Given the description of an element on the screen output the (x, y) to click on. 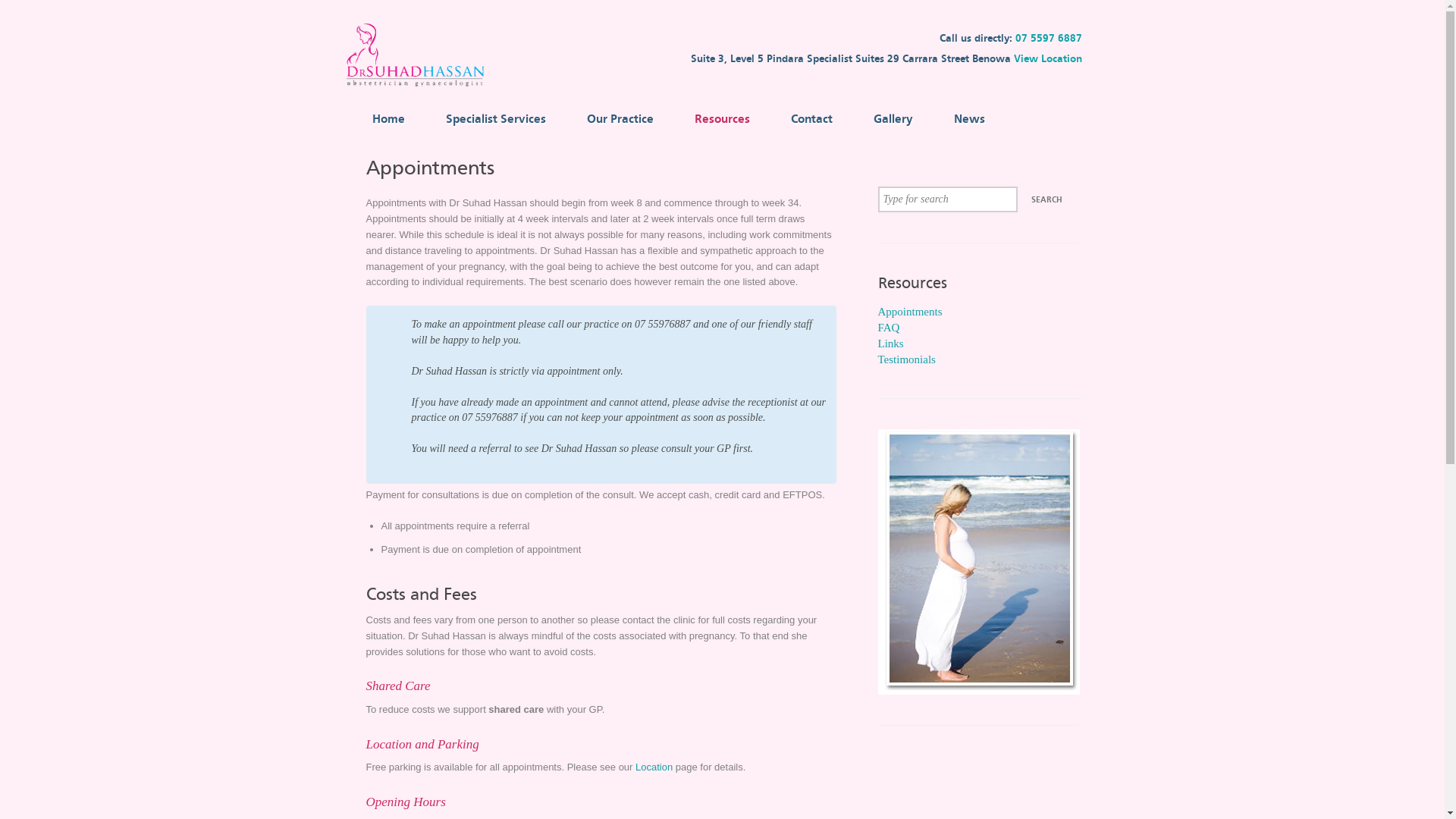
View Location Element type: text (1055, 58)
Appointments Element type: text (910, 311)
Obstetrician | Gynaecologist Element type: hover (418, 87)
Location Element type: text (653, 766)
Gallery Element type: text (886, 117)
News Element type: text (962, 117)
Contact Element type: text (805, 117)
Testimonials Element type: text (906, 359)
FAQ Element type: text (889, 327)
Specialist Services Element type: text (489, 117)
Resources Element type: text (715, 117)
Search Element type: text (1045, 200)
Home Element type: text (382, 117)
Links Element type: text (890, 343)
Our Practice Element type: text (613, 117)
